Given the description of an element on the screen output the (x, y) to click on. 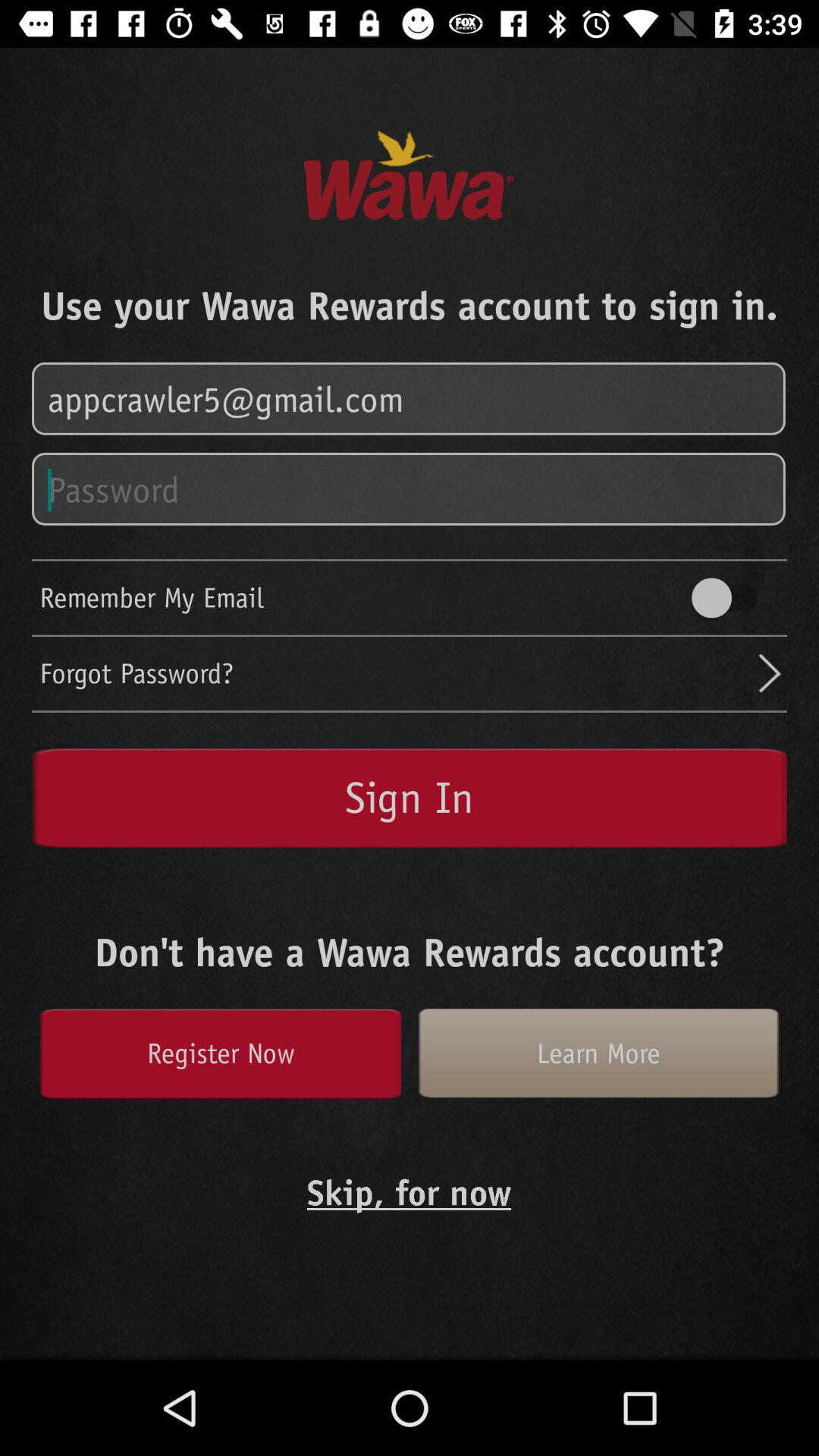
open item at the bottom left corner (220, 1053)
